Given the description of an element on the screen output the (x, y) to click on. 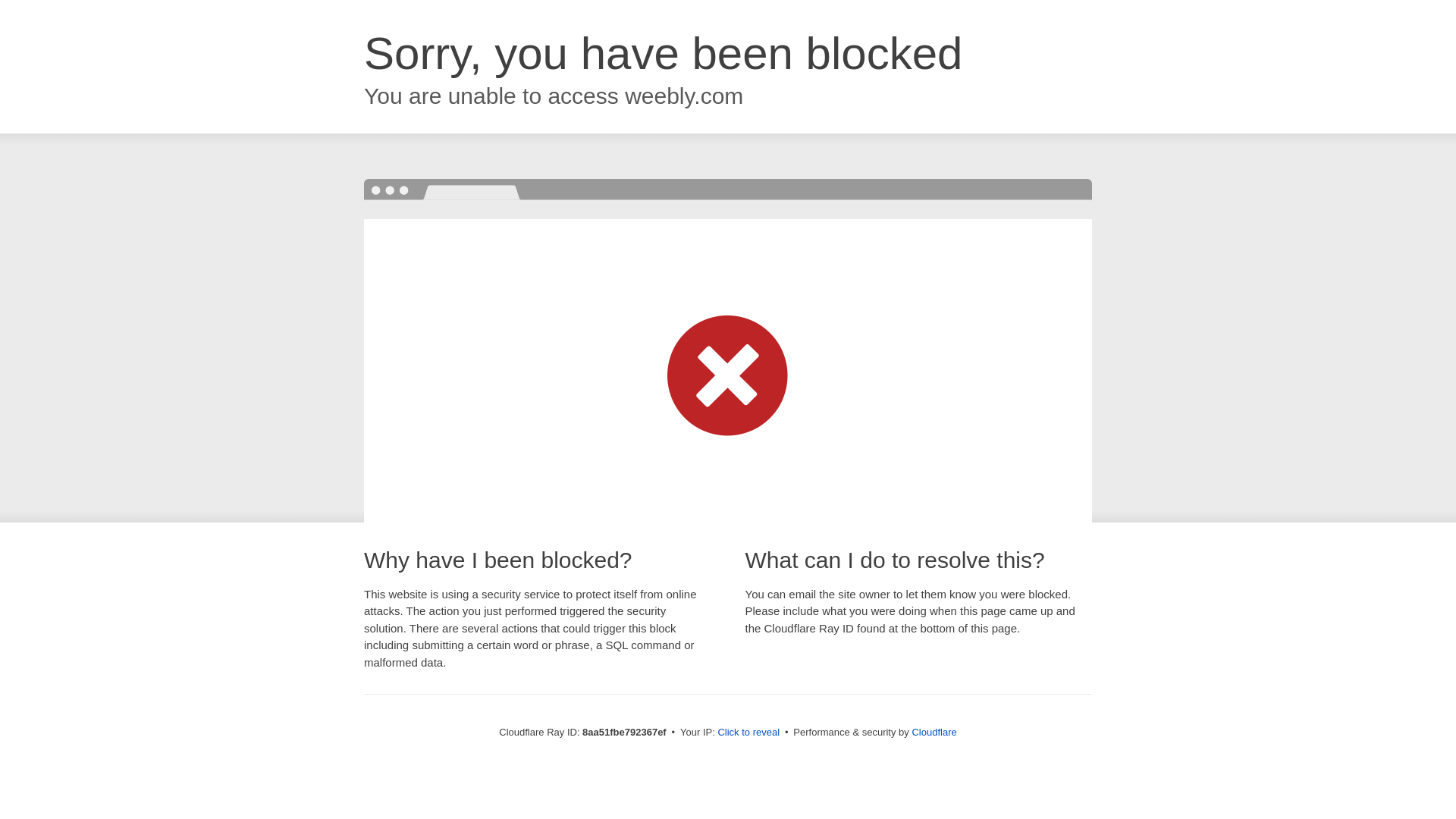
Click to reveal (747, 732)
Cloudflare (933, 731)
